Given the description of an element on the screen output the (x, y) to click on. 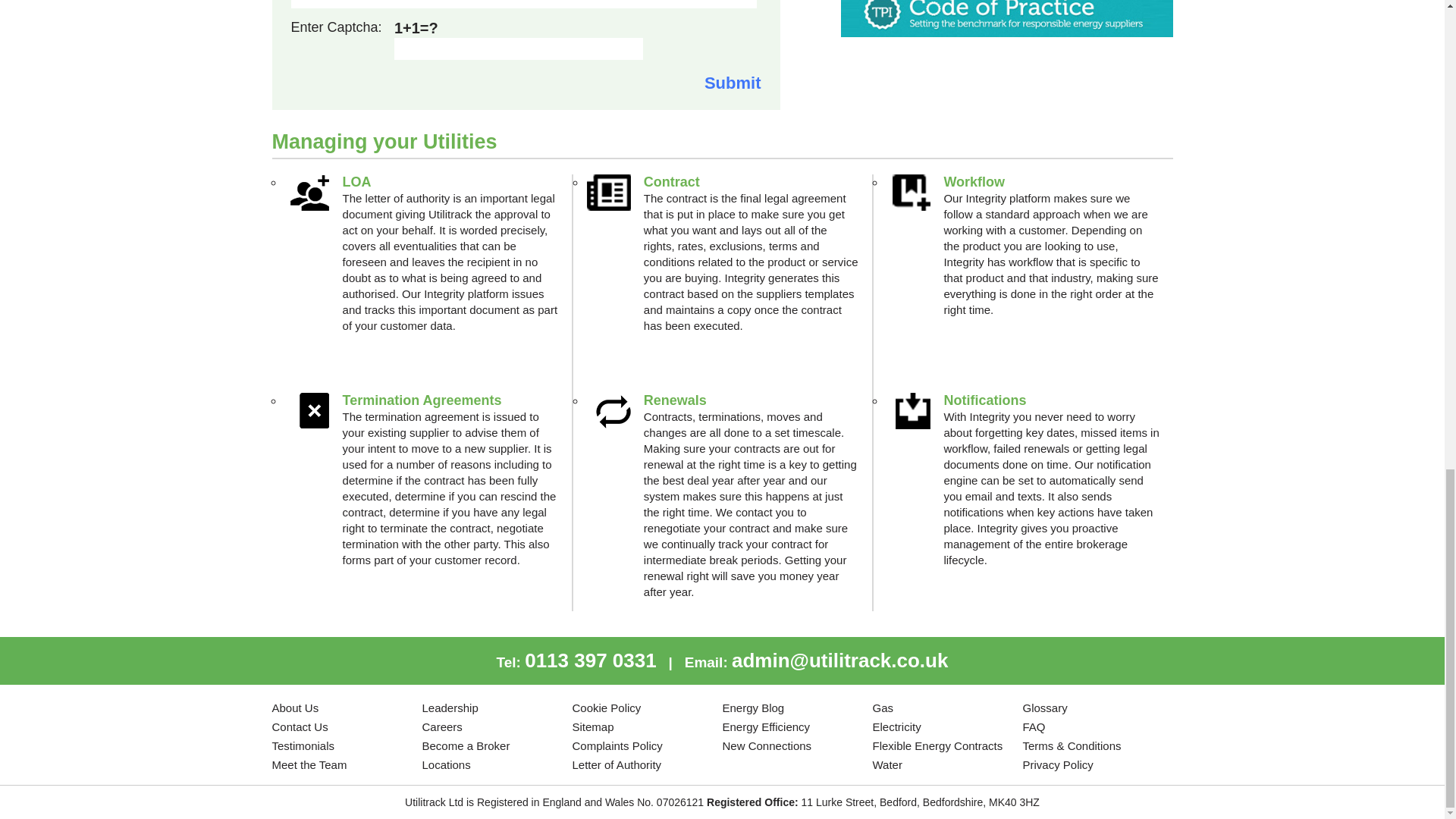
Electricity (896, 726)
Complaints Policy (617, 745)
Sitemap (592, 726)
Meet the Team (308, 764)
About Us (294, 707)
Leadership (449, 707)
Become a Broker (465, 745)
Careers (441, 726)
Gas (882, 707)
Glossary (1044, 707)
